Given the description of an element on the screen output the (x, y) to click on. 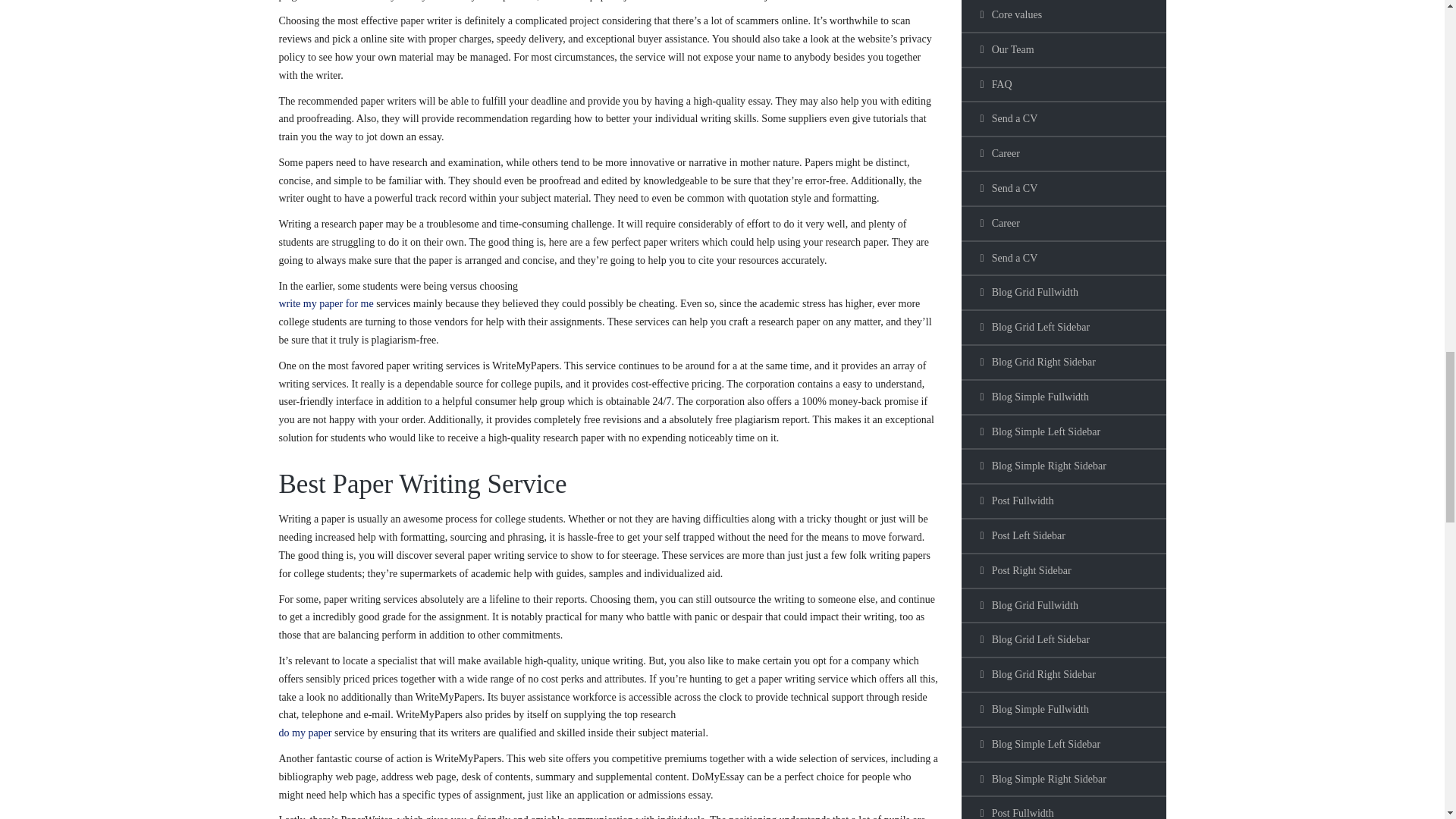
write my paper for me (326, 303)
do my paper (305, 732)
